Given the description of an element on the screen output the (x, y) to click on. 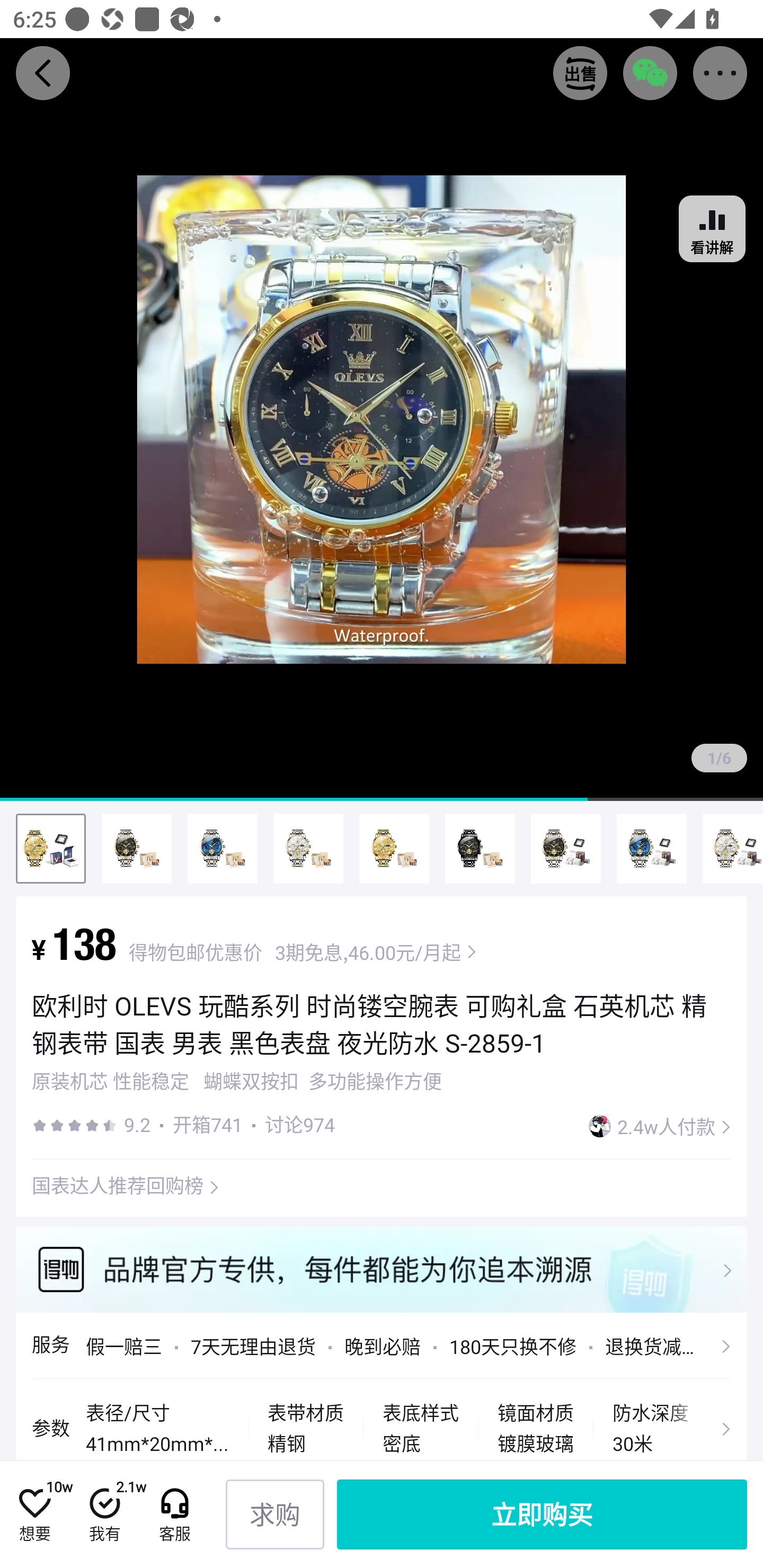
77.0 (381, 419)
看讲解 (711, 228)
得物包邮优惠价 (195, 952)
3期免息,46.00元/月起 (375, 952)
原装机芯 性能稳定   蝴蝶双按扣  多功能操作方便 (236, 1080)
2.4w人付款  (659, 1126)
国表达人推荐回购榜  (125, 1184)
 (381, 1269)
服务 假一赔三d7天无理由退货d晚到必赔d180天只换不修d退换货减免运费d逐件查验d防伪包装  (381, 1345)
表径/尺寸 41mm*20mm*... (156, 1428)
表带材质 精钢 (305, 1428)
表底样式 密底 (420, 1428)
镜面材质 镀膜玻璃 (535, 1428)
防水深度 30米 (650, 1428)
 (714, 1428)
求购 (274, 1514)
立即购买 (541, 1514)
10w 想要 (35, 1514)
2.1w 我有 (104, 1514)
客服 (174, 1514)
